Given the description of an element on the screen output the (x, y) to click on. 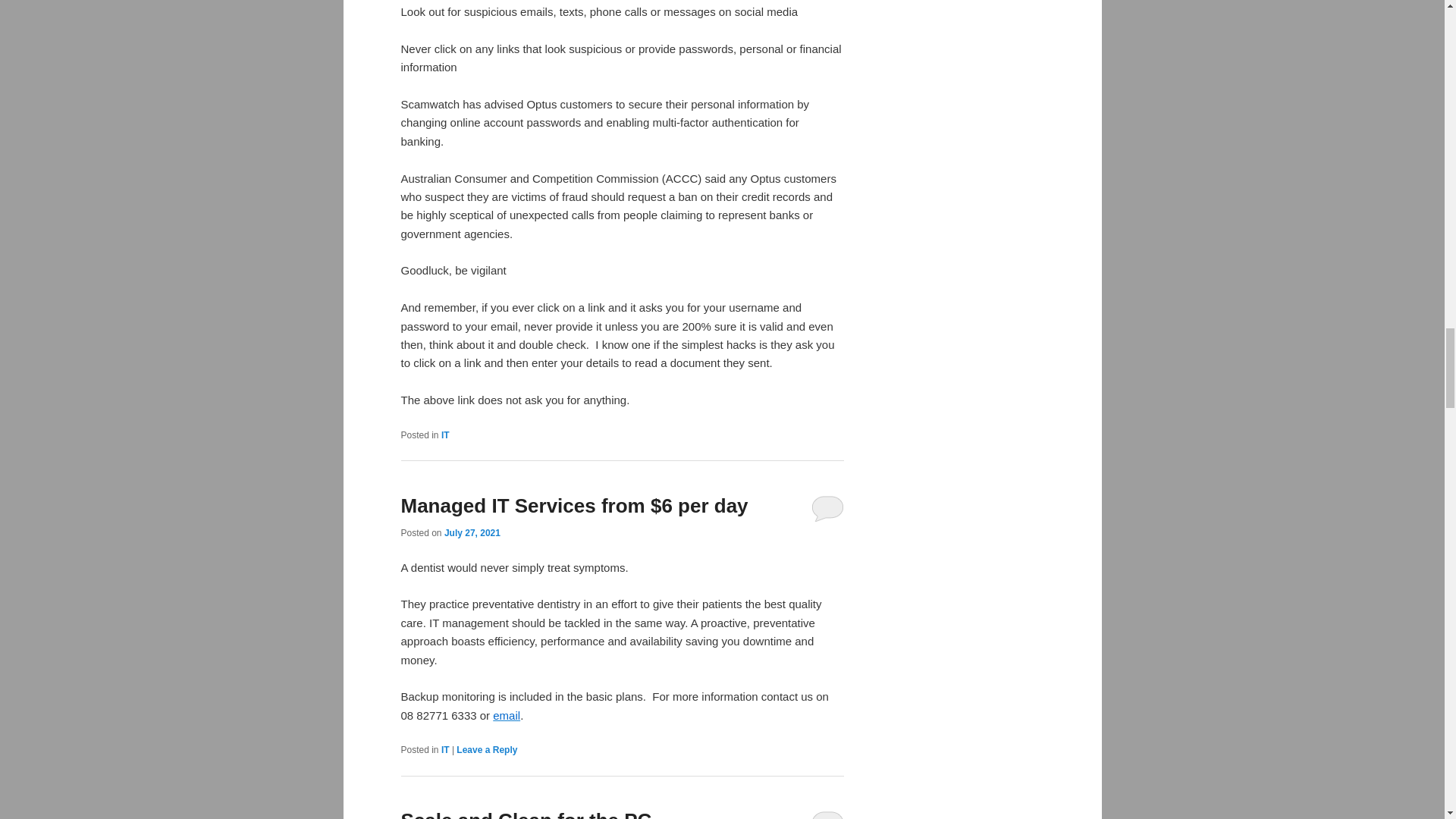
6:47 AM (472, 532)
IT (445, 434)
